Given the description of an element on the screen output the (x, y) to click on. 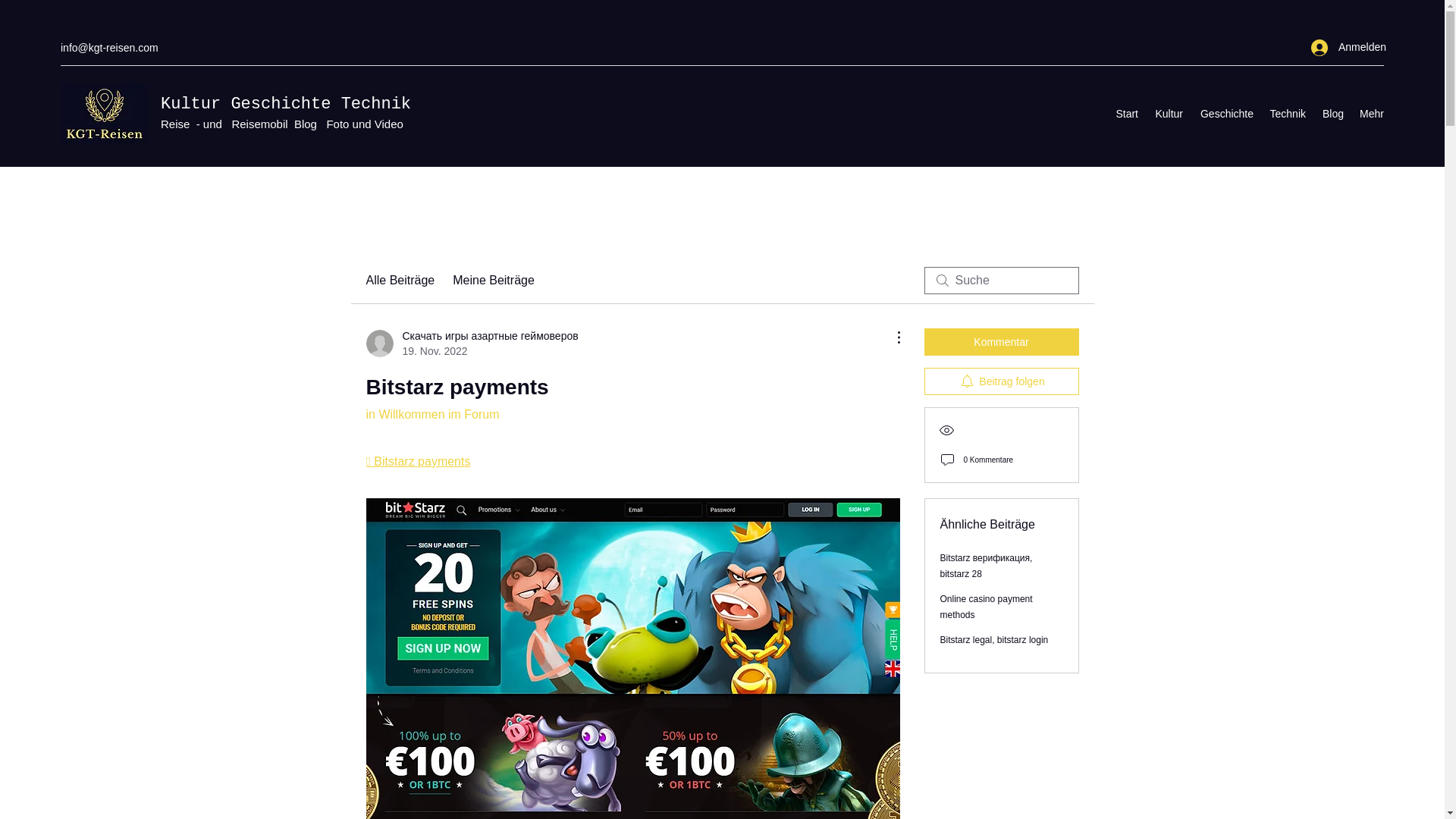
Kultur Geschichte Technik (285, 104)
Start (1125, 113)
Anmelden (1342, 47)
Kultur (1168, 113)
in Willkommen im Forum (432, 413)
Online casino payment methods (986, 606)
Kommentar (1000, 341)
Blog (1332, 113)
Bitstarz legal, bitstarz login (994, 639)
Geschichte (1225, 113)
Technik (1286, 113)
Beitrag folgen (1000, 380)
